Given the description of an element on the screen output the (x, y) to click on. 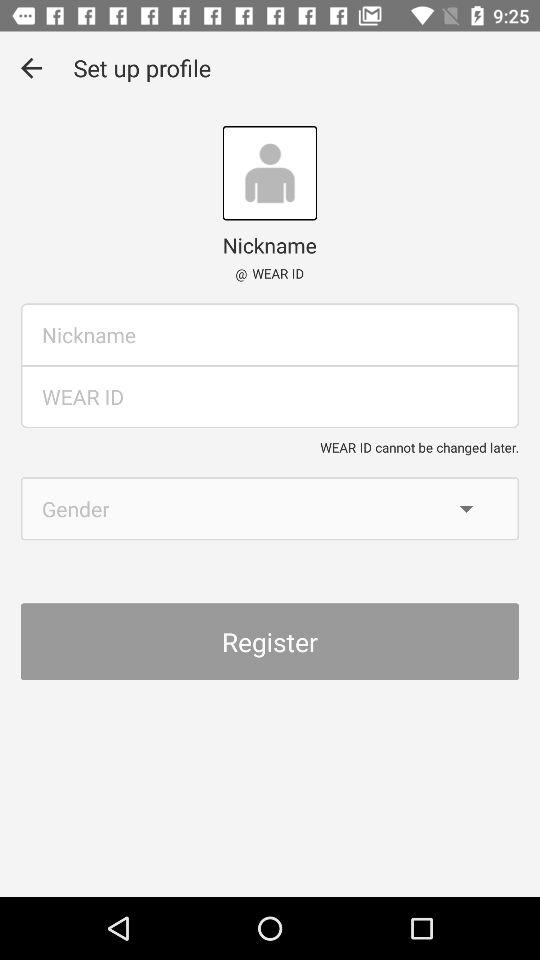
enter text (270, 334)
